Given the description of an element on the screen output the (x, y) to click on. 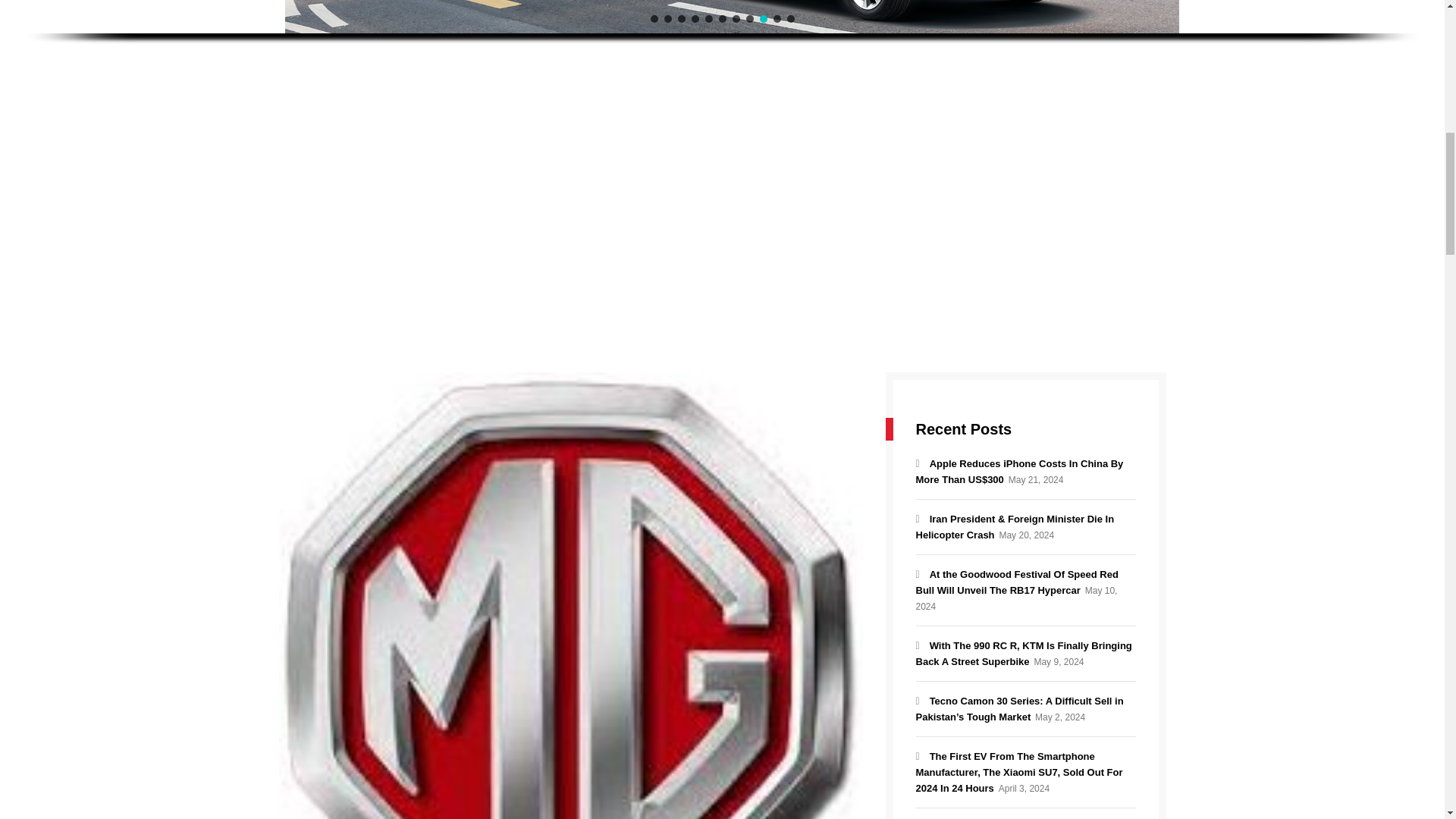
MG 3 Will Debut In Pakistan With Less Than 2 Million? (571, 664)
